Given the description of an element on the screen output the (x, y) to click on. 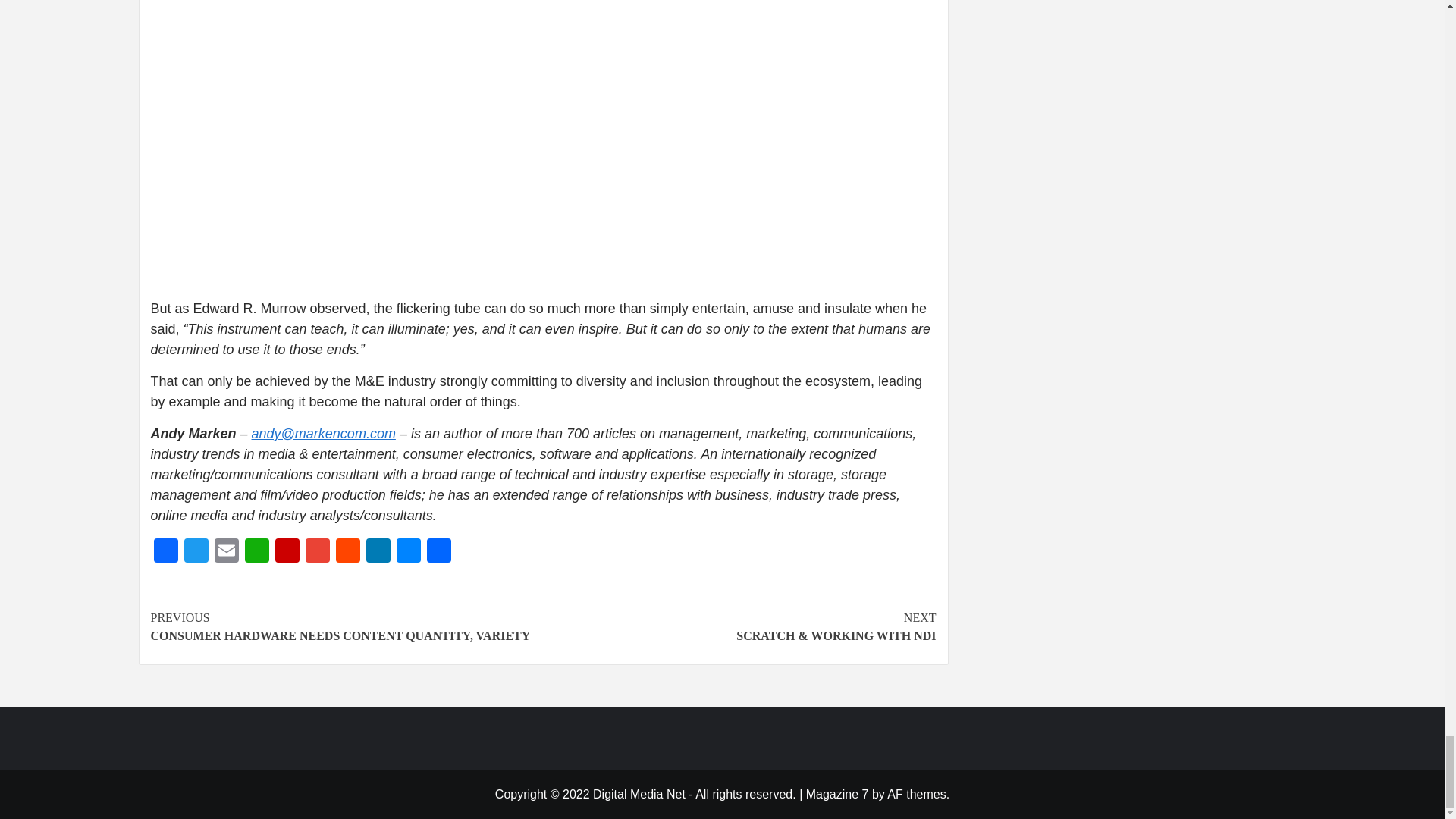
Twitter (195, 552)
WhatsApp (255, 552)
Facebook (164, 552)
Email (226, 552)
Facebook (164, 552)
Twitter (195, 552)
Email (226, 552)
